Given the description of an element on the screen output the (x, y) to click on. 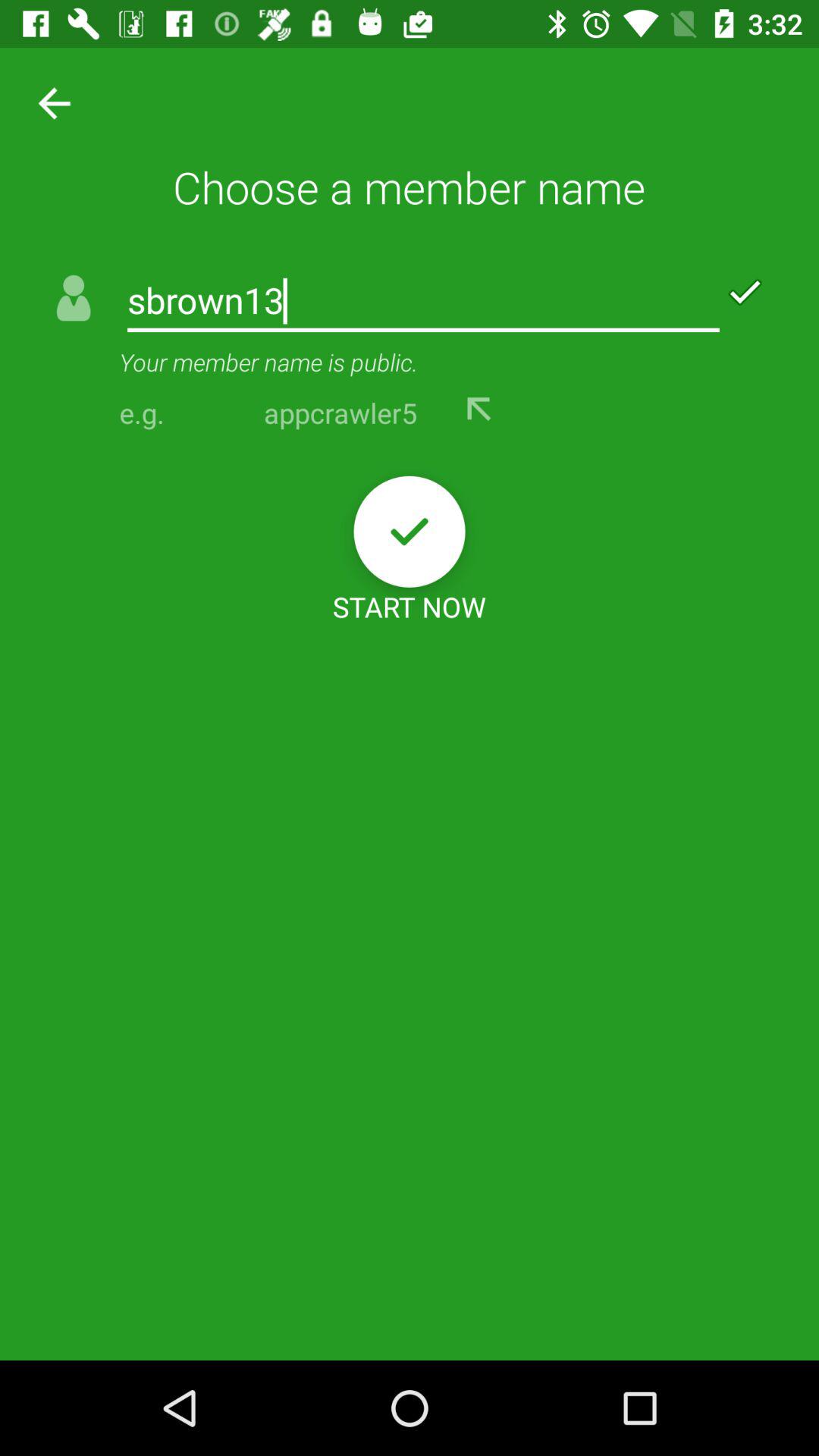
start now (409, 531)
